Given the description of an element on the screen output the (x, y) to click on. 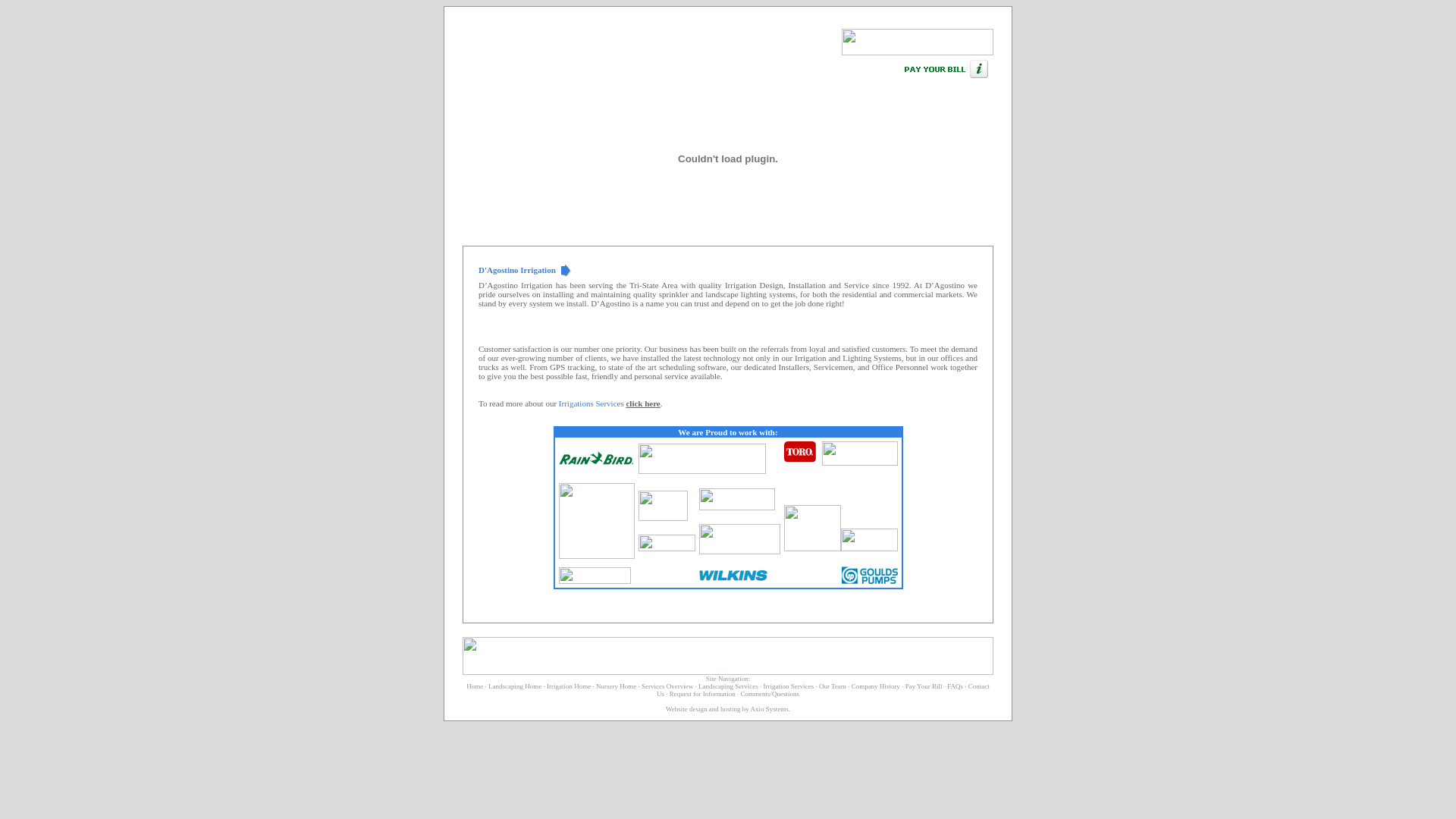
Irrigation Services Element type: text (787, 686)
Axio Systems. Element type: text (781, 712)
Home Element type: text (474, 686)
Services Overview Element type: text (667, 686)
Irrigation Home Element type: text (568, 686)
Pay Your Bill Element type: text (923, 686)
Company History Element type: text (875, 686)
FAQs Element type: text (955, 686)
Our Team Element type: text (832, 686)
Nursery Home Element type: text (616, 686)
Request for Information Element type: text (702, 693)
Comments/Questions Element type: text (775, 697)
Landscaping Home Element type: text (514, 686)
Contact Us Element type: text (822, 689)
click here Element type: text (642, 402)
Landscaping Services Element type: text (728, 686)
